Given the description of an element on the screen output the (x, y) to click on. 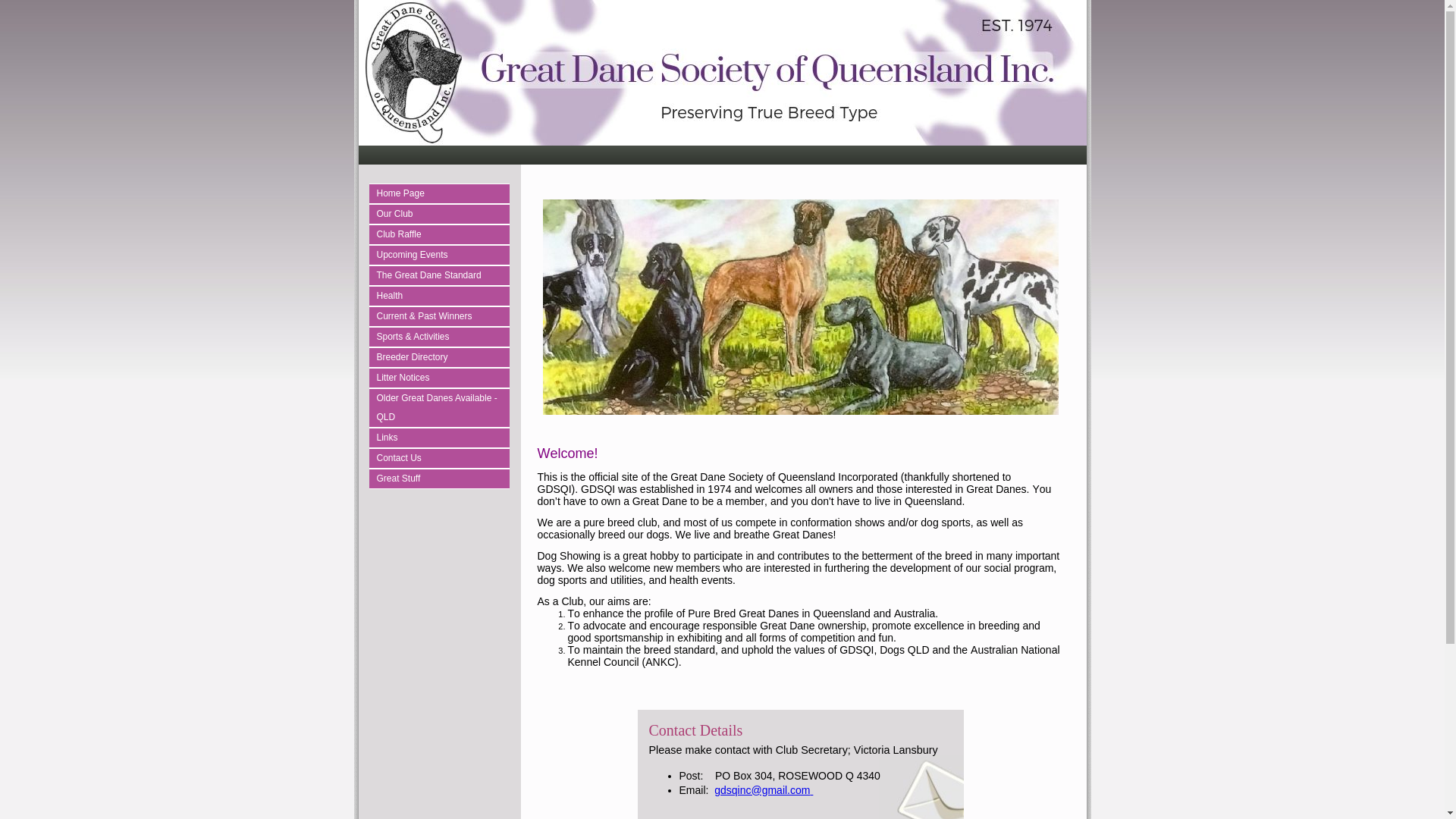
Links Element type: text (442, 437)
Upcoming Events Element type: text (442, 254)
Breeder Directory Element type: text (442, 357)
Older Great Danes Available - QLD Element type: text (442, 407)
gdsqinc@gmail.com  Element type: text (763, 790)
The Great Dane Standard Element type: text (442, 275)
Great Stuff Element type: text (442, 478)
Litter Notices Element type: text (442, 377)
Contact Us Element type: text (442, 457)
Club Raffle Element type: text (442, 234)
Home Page Element type: text (442, 193)
Sports & Activities Element type: text (442, 336)
Health Element type: text (442, 295)
Our Club Element type: text (442, 213)
Current & Past Winners Element type: text (442, 316)
